Given the description of an element on the screen output the (x, y) to click on. 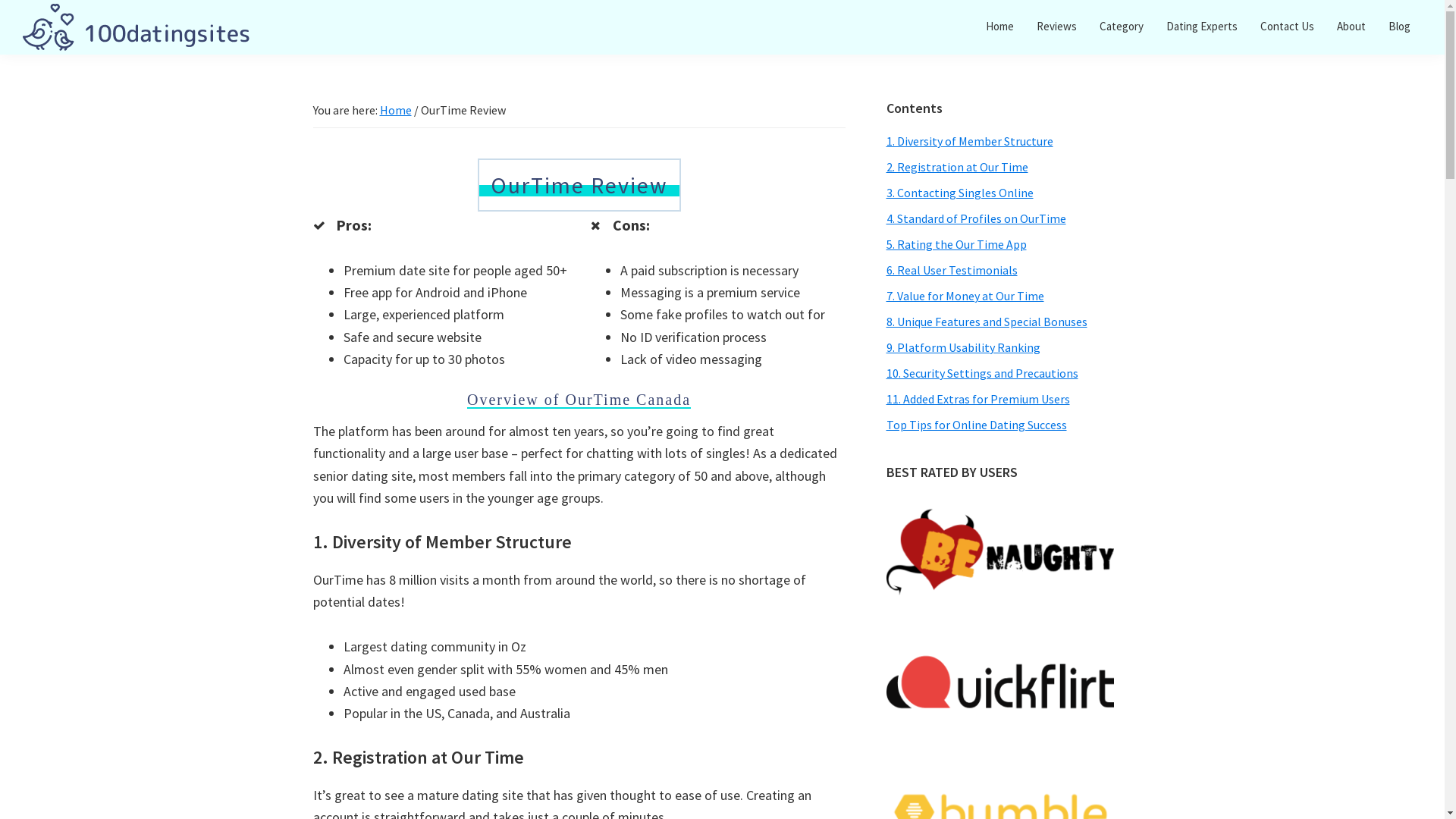
11. Added Extras for Premium Users Element type: text (977, 398)
4. Standard of Profiles on OurTime Element type: text (975, 217)
2. Registration at Our Time Element type: text (956, 166)
Dating Experts Element type: text (1201, 25)
Top Tips for Online Dating Success Element type: text (975, 424)
Reviews Element type: text (1056, 25)
8. Unique Features and Special Bonuses Element type: text (985, 321)
Home Element type: text (999, 25)
1. Diversity of Member Structure Element type: text (968, 140)
7. Value for Money at Our Time Element type: text (964, 295)
5. Rating the Our Time App Element type: text (955, 243)
Home Element type: text (395, 109)
9. Platform Usability Ranking Element type: text (962, 346)
Category Element type: text (1121, 25)
10. Security Settings and Precautions Element type: text (981, 372)
Blog Element type: text (1399, 25)
About Element type: text (1351, 25)
6. Real User Testimonials Element type: text (950, 269)
Contact Us Element type: text (1286, 25)
Skip to primary navigation Element type: text (0, 0)
3. Contacting Singles Online Element type: text (958, 192)
